Given the description of an element on the screen output the (x, y) to click on. 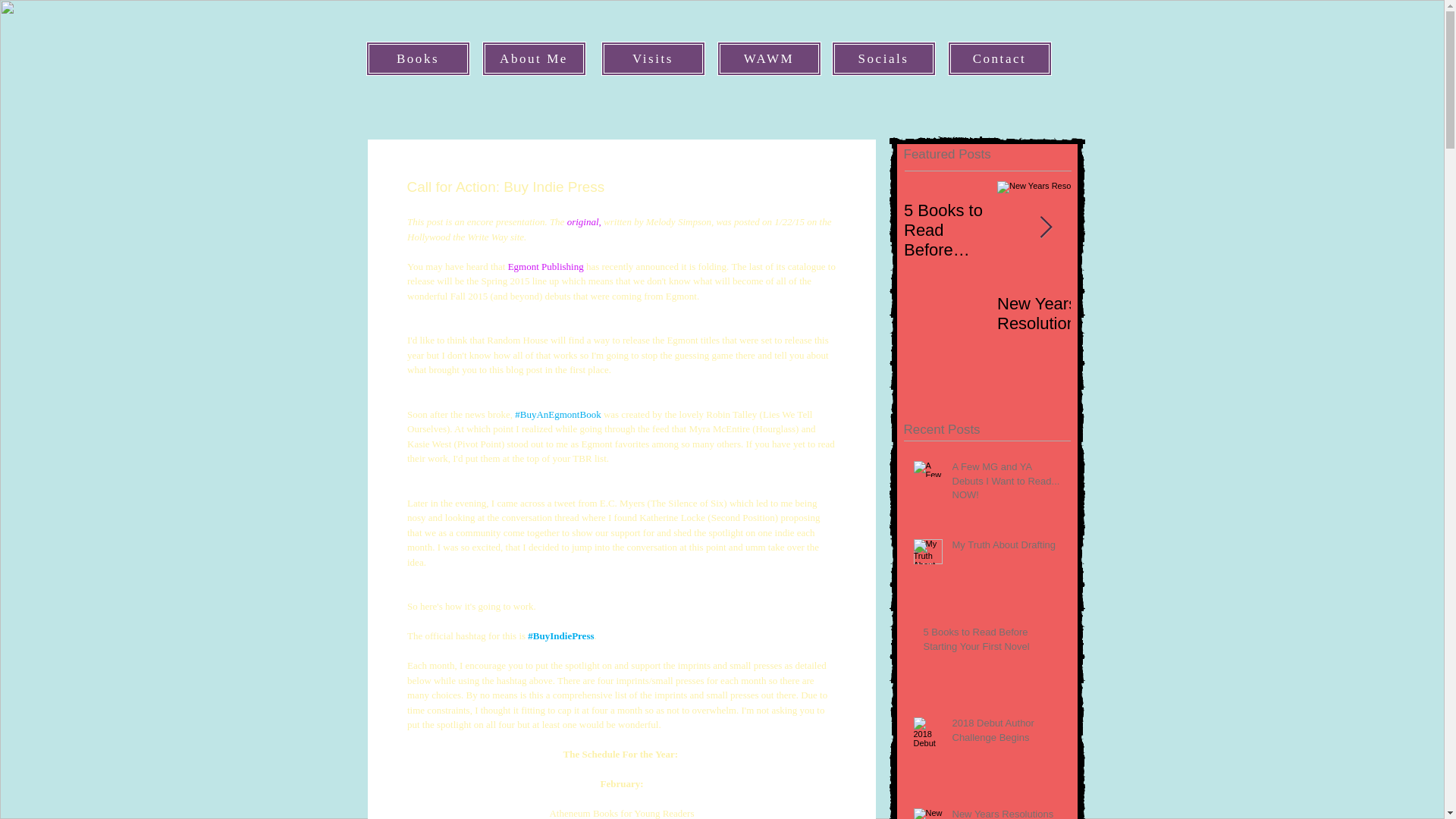
My Truth About Drafting (1006, 547)
2018 Debut Author Challenge Begins (1006, 733)
5 Books to Read Before Starting Your First Novel (992, 642)
New Years Resolutions Suck! (1079, 313)
Socials (882, 58)
New Years Resolutions Suck! (1006, 813)
WAWM (769, 58)
Contact (999, 58)
5 Books to Read Before Starting Your First Novel (950, 230)
Egmont Publishing  (545, 266)
